Given the description of an element on the screen output the (x, y) to click on. 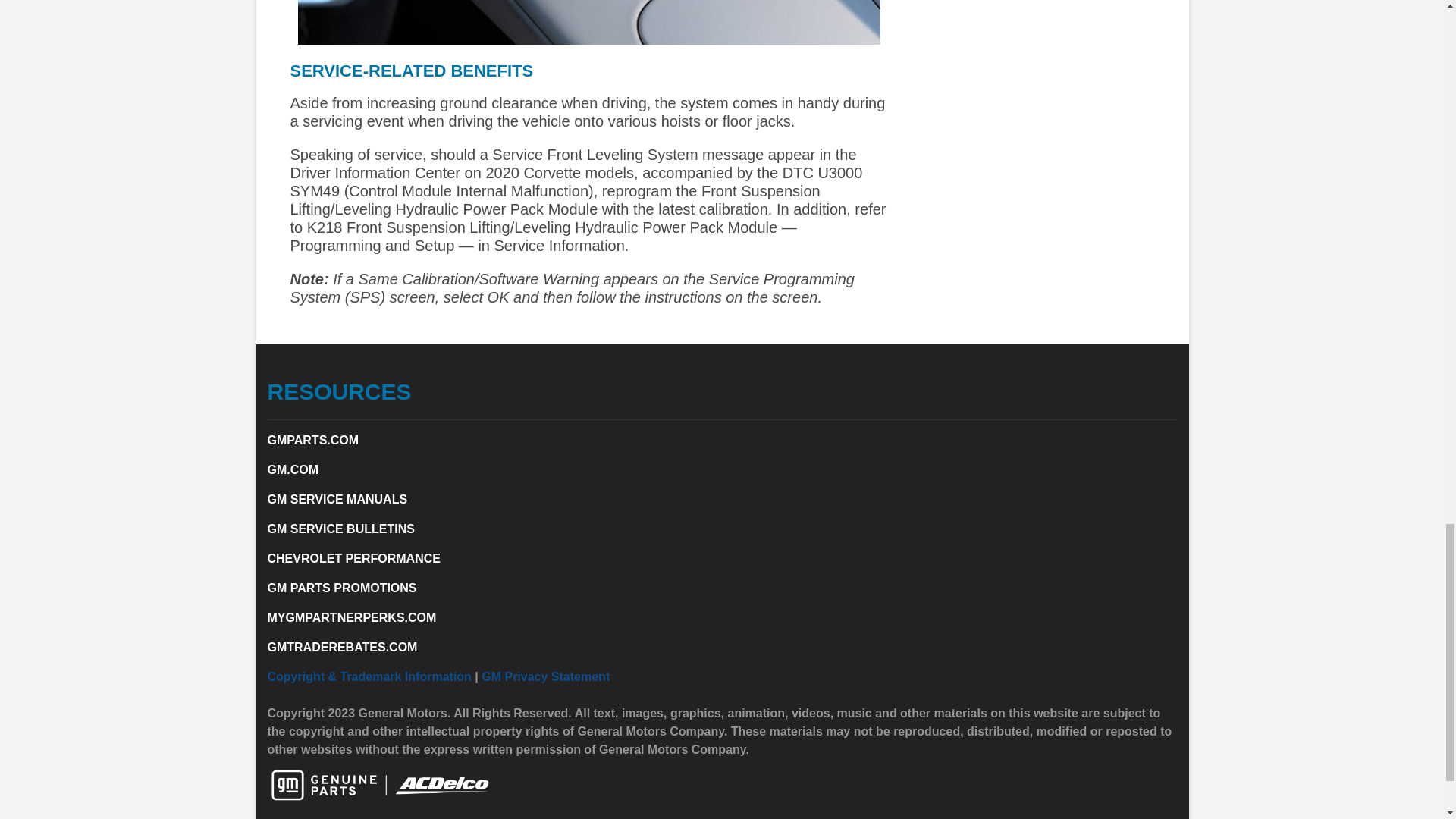
CHEVROLET PERFORMANCE (352, 558)
GM SERVICE BULLETINS (339, 528)
GMPARTS.COM (312, 440)
GM PARTS PROMOTIONS (341, 587)
GM.COM (292, 469)
MYGMPARTNERPERKS.COM (350, 617)
GM SERVICE MANUALS (336, 499)
GMTRADEREBATES.COM (341, 646)
GM Privacy Statement (545, 676)
